Given the description of an element on the screen output the (x, y) to click on. 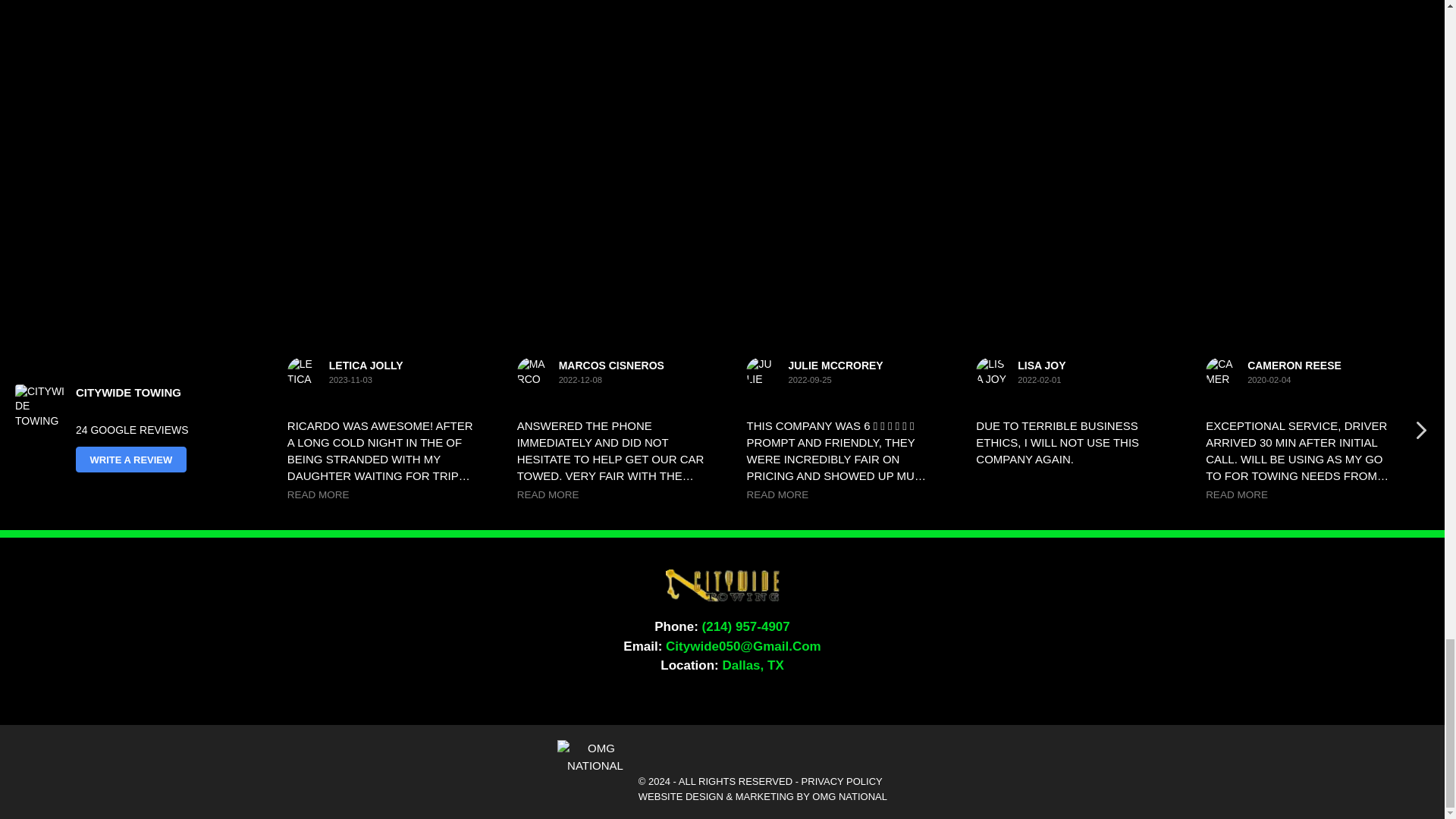
OMG NATIONAL (849, 796)
WRITE A REVIEW (130, 459)
OMG National (595, 765)
OMG National (849, 796)
Dallas, TX (752, 665)
PRIVACY POLICY (842, 781)
OMG National (595, 756)
